Given the description of an element on the screen output the (x, y) to click on. 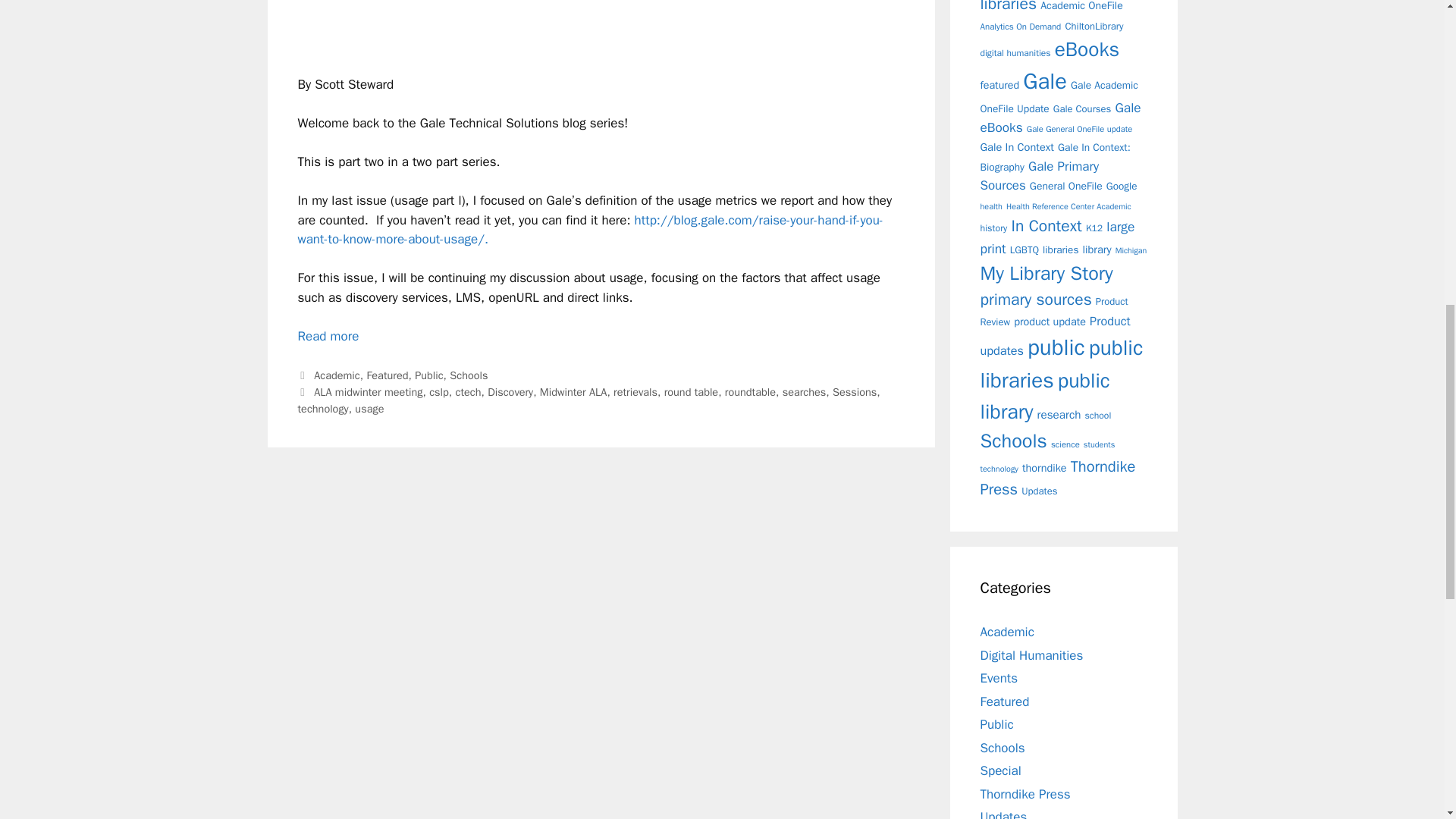
Featured (386, 375)
ctech (467, 391)
Schools (468, 375)
usage (369, 408)
roundtable (750, 391)
searches (805, 391)
retrievals (635, 391)
Academic (336, 375)
cslp (438, 391)
ALA midwinter meeting (368, 391)
Sessions (854, 391)
technology (322, 408)
Public (428, 375)
